Given the description of an element on the screen output the (x, y) to click on. 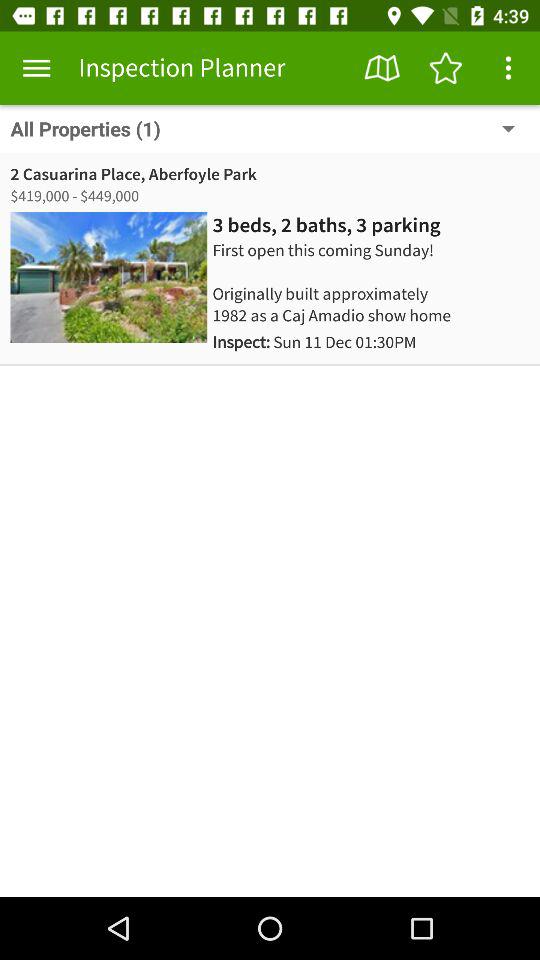
choose 2 casuarina place (133, 174)
